Given the description of an element on the screen output the (x, y) to click on. 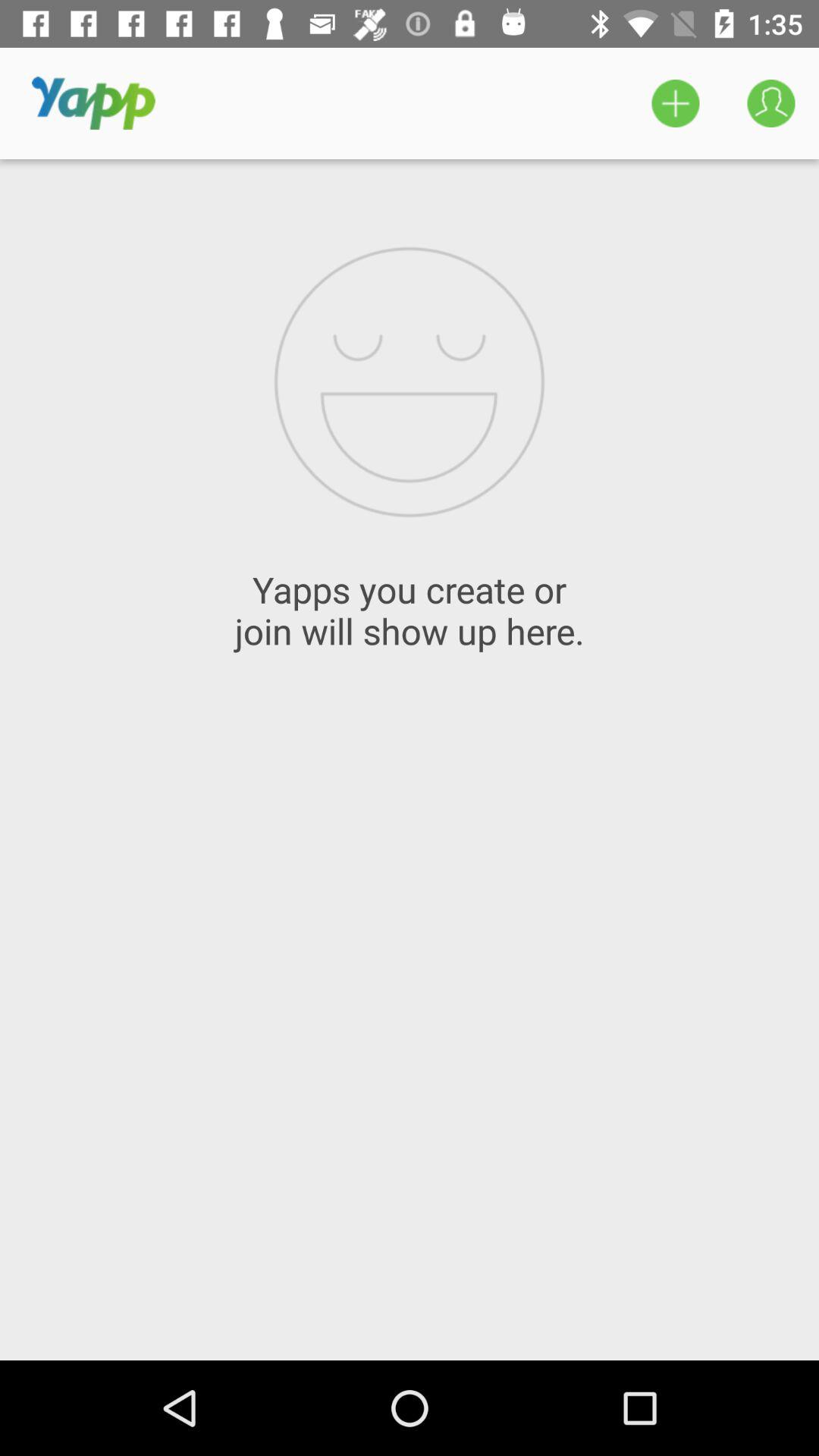
launch the icon above yapps you create icon (771, 103)
